Given the description of an element on the screen output the (x, y) to click on. 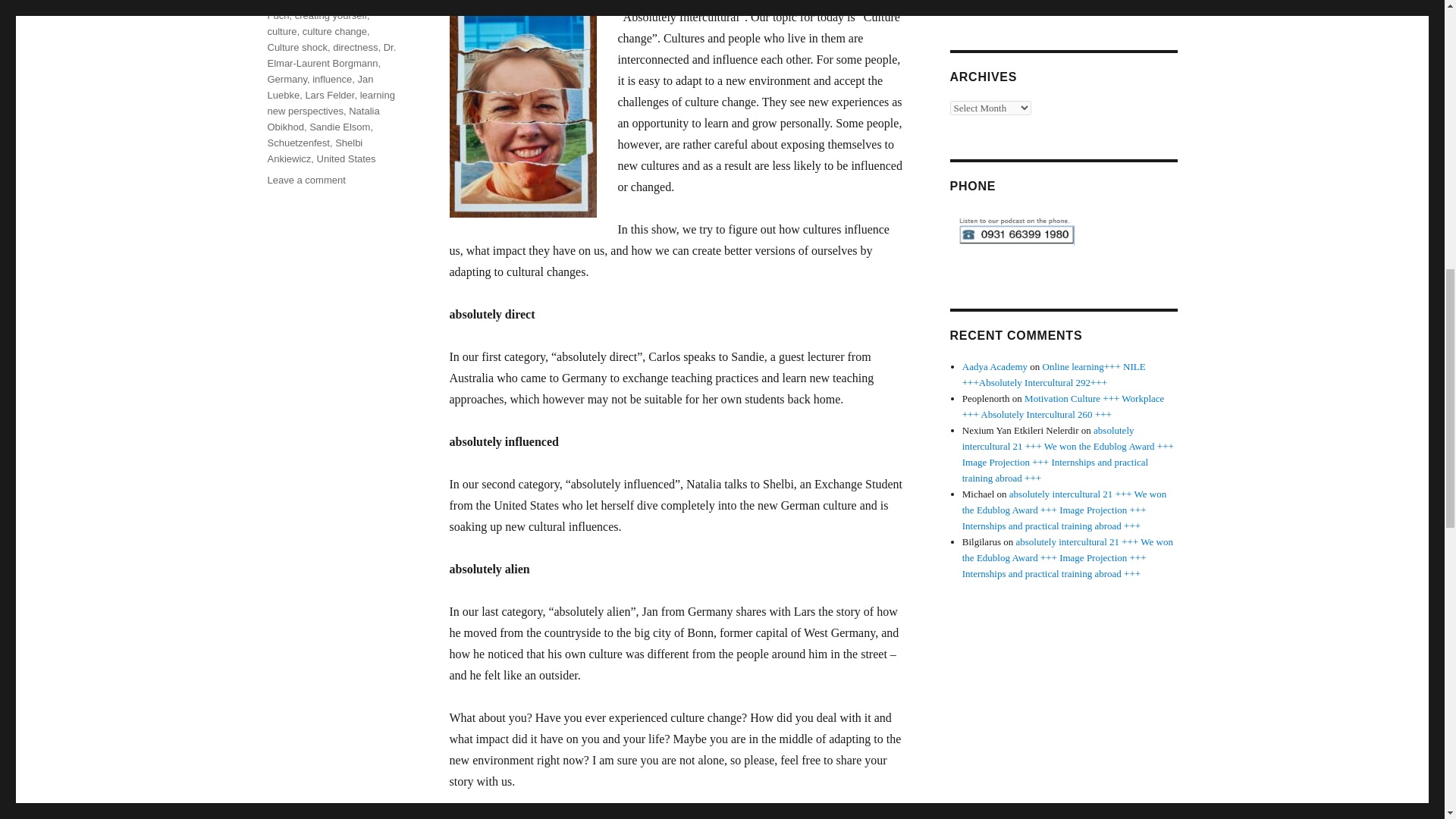
Germany (286, 79)
Dr. Elmar-Laurent Borgmann (331, 54)
influence (332, 79)
Culture shock (296, 47)
directness (355, 47)
culture (281, 30)
culture change (334, 30)
creating yourself (330, 15)
Australia (329, 2)
Carlos Fuch (323, 10)
adapting (285, 2)
